Given the description of an element on the screen output the (x, y) to click on. 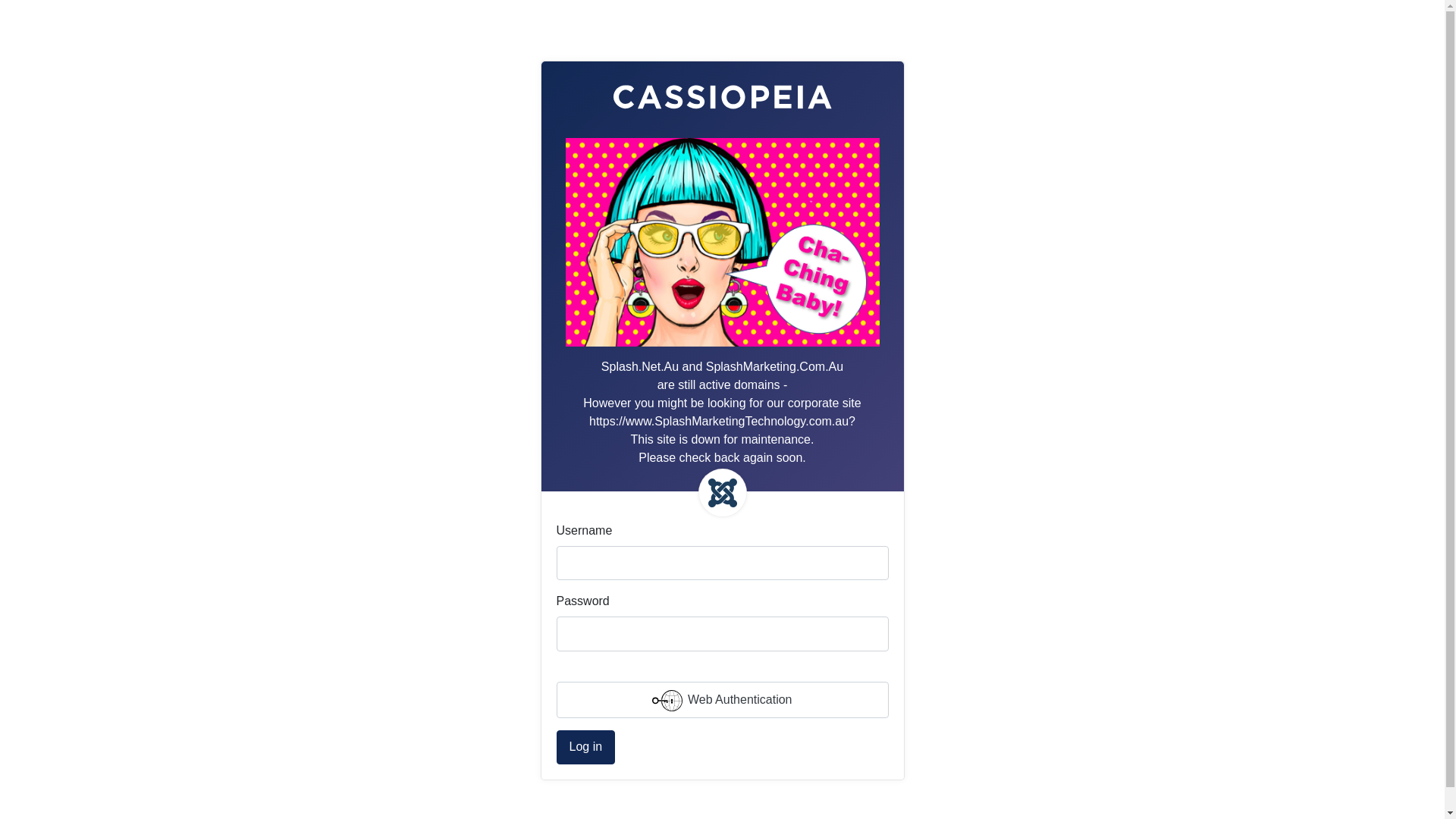
Log in Element type: text (585, 747)
Web Authentication Element type: text (722, 699)
